Given the description of an element on the screen output the (x, y) to click on. 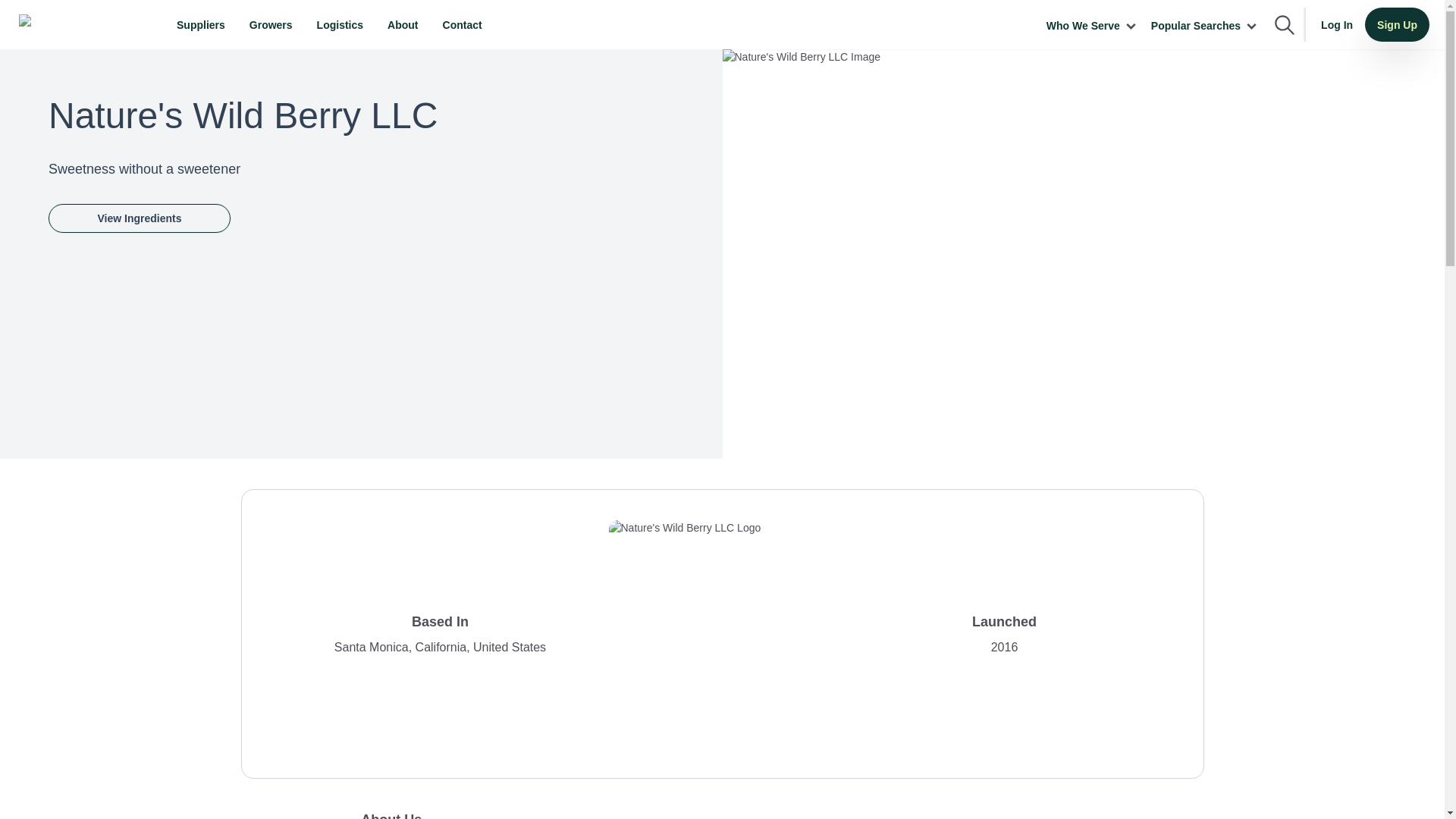
Growers (270, 23)
Popular Searches (1205, 26)
Suppliers (200, 23)
Log In (1336, 24)
About (402, 23)
View Ingredients (139, 217)
Logistics (339, 23)
Contact (462, 23)
Who We Serve (1092, 26)
Sign Up (1397, 24)
